Given the description of an element on the screen output the (x, y) to click on. 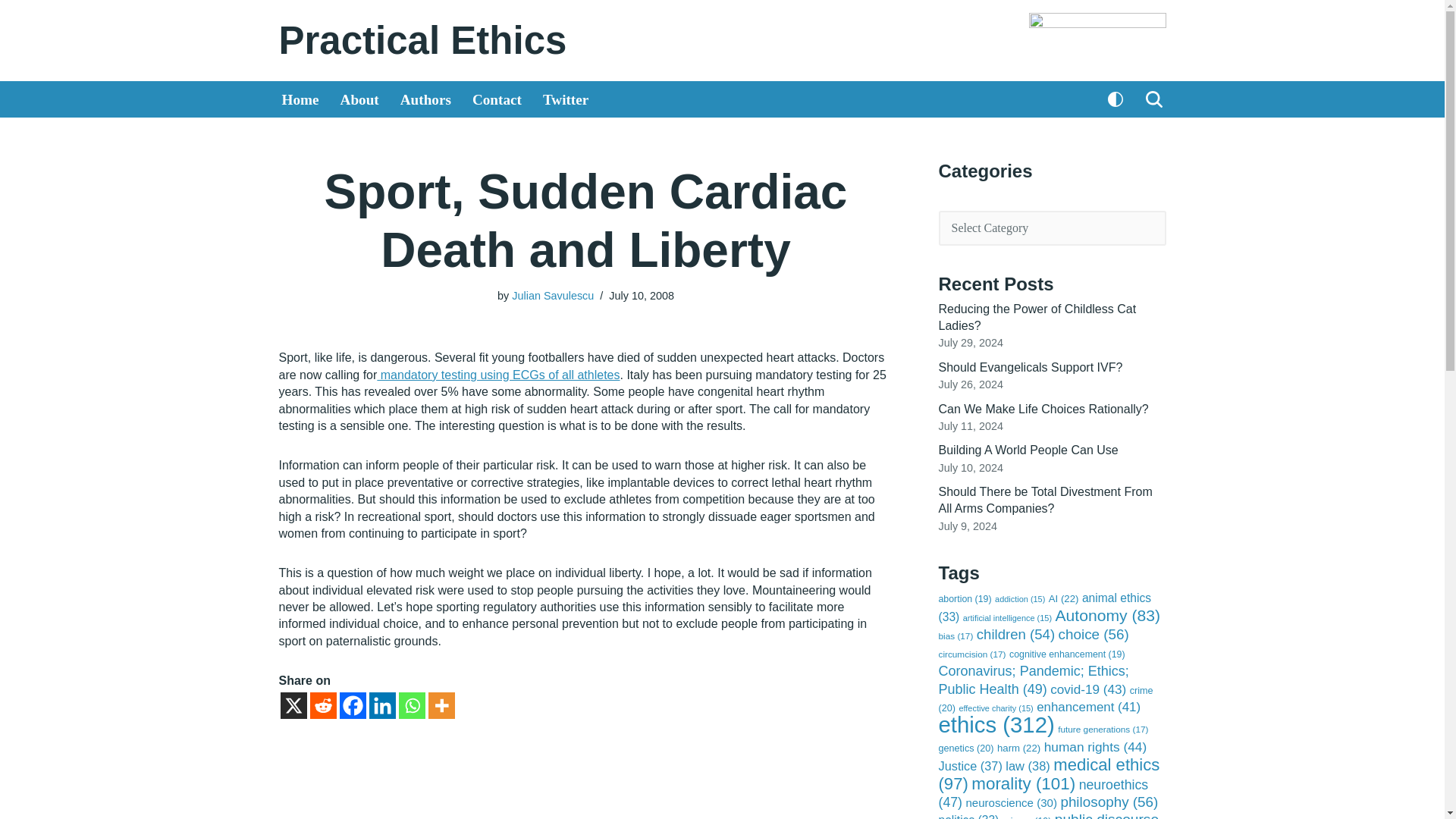
Twitter (565, 99)
About (359, 99)
Linkedin (381, 705)
Julian Savulescu (553, 295)
Building A World People Can Use (1028, 449)
Whatsapp (411, 705)
Can We Make Life Choices Rationally? (1043, 408)
Authors (425, 99)
X (294, 705)
Reddit (322, 705)
Posts by Julian Savulescu (553, 295)
More (441, 705)
Should Evangelicals Support IVF? (1030, 367)
Contact (496, 99)
Facebook (352, 705)
